Given the description of an element on the screen output the (x, y) to click on. 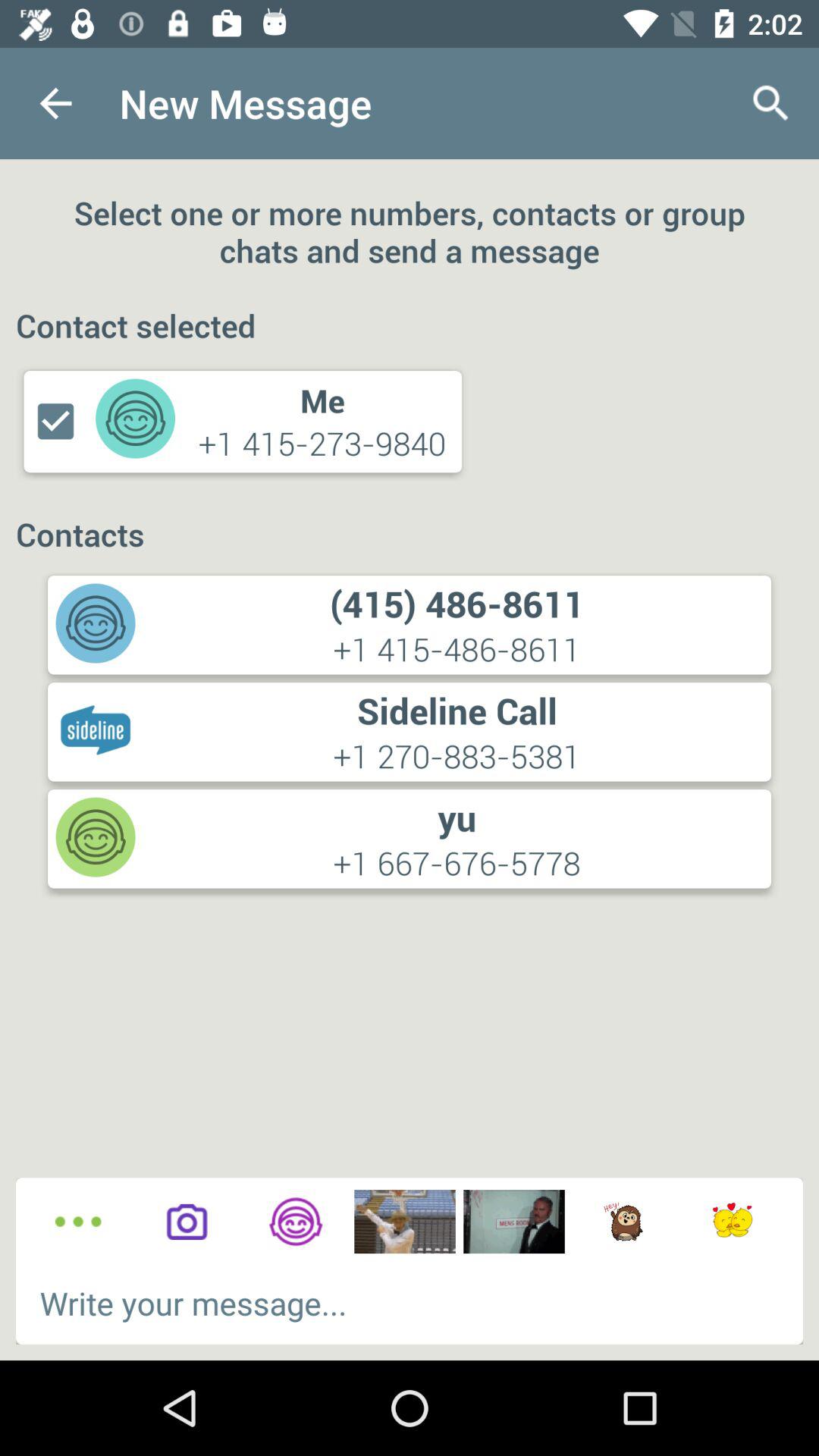
open camera (186, 1221)
